Given the description of an element on the screen output the (x, y) to click on. 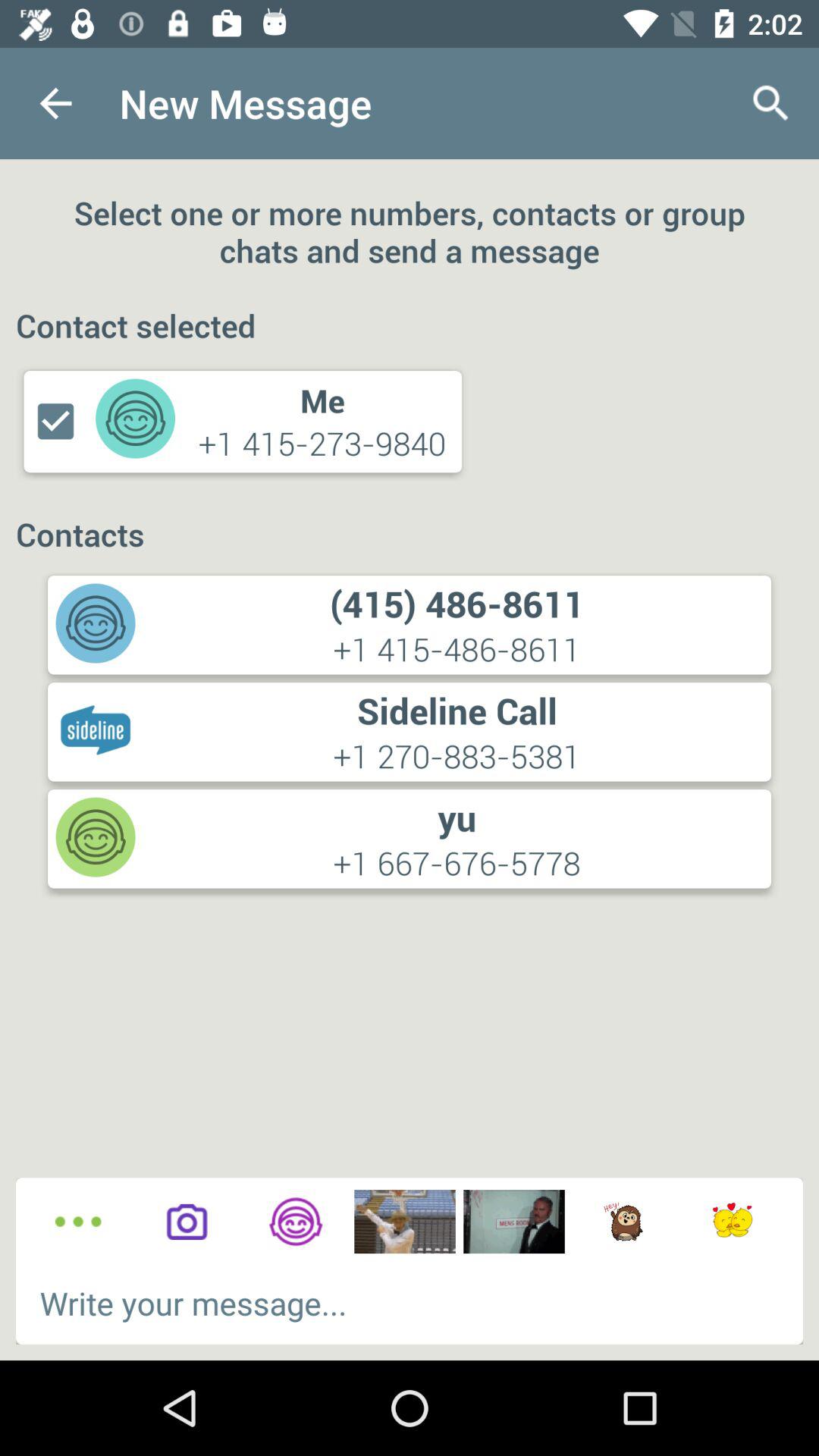
open camera (186, 1221)
